Given the description of an element on the screen output the (x, y) to click on. 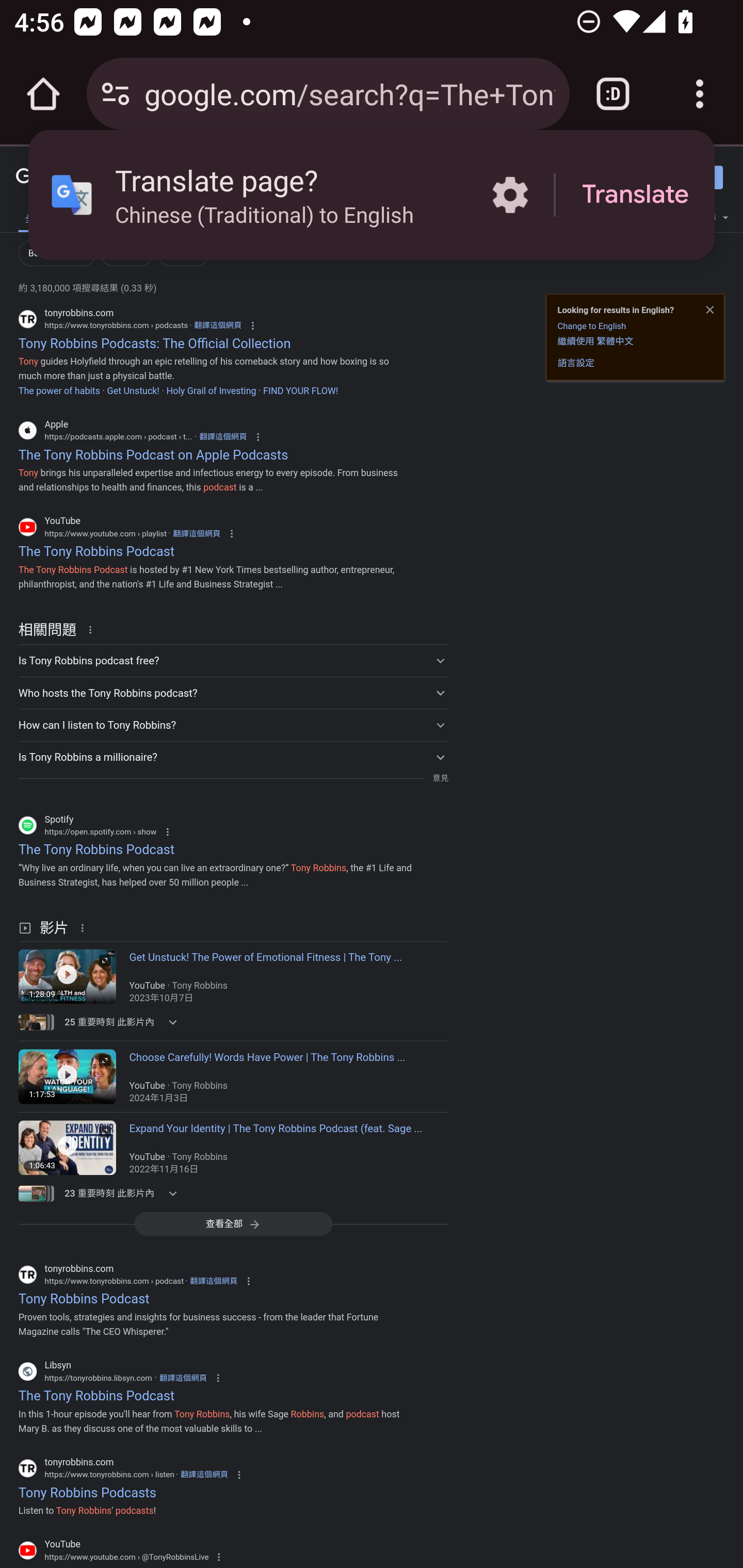
Open the home page (43, 93)
Connection is secure (115, 93)
Switch or close tabs (612, 93)
Customize and control Google Chrome (699, 93)
Translate (634, 195)
More options in the Translate page? (509, 195)
翻譯這個網頁 (217, 325)
Change to English (591, 325)
繼續使用 繁體中文 繼續使用  繁體中文 (595, 339)
語言設定 (576, 362)
The power of habits (58, 390)
Get Unstuck! (132, 390)
Holy Grail of Investing (211, 390)
FIND YOUR FLOW! (300, 390)
翻譯這個網頁 (223, 436)
翻譯這個網頁 (196, 532)
關於此結果 (93, 629)
Is Tony Robbins podcast free? (232, 660)
Who hosts the Tony Robbins podcast? (232, 691)
How can I listen to Tony Robbins? (232, 724)
Is Tony Robbins a millionaire? (232, 756)
意見 (439, 778)
關於此結果 (85, 927)
25 重要時刻  此影片內 (123, 1022)
23 重要時刻  此影片內 (123, 1193)
查看全部 (233, 1223)
翻譯這個網頁 (213, 1280)
翻譯這個網頁 (182, 1378)
翻譯這個網頁 (203, 1473)
